Given the description of an element on the screen output the (x, y) to click on. 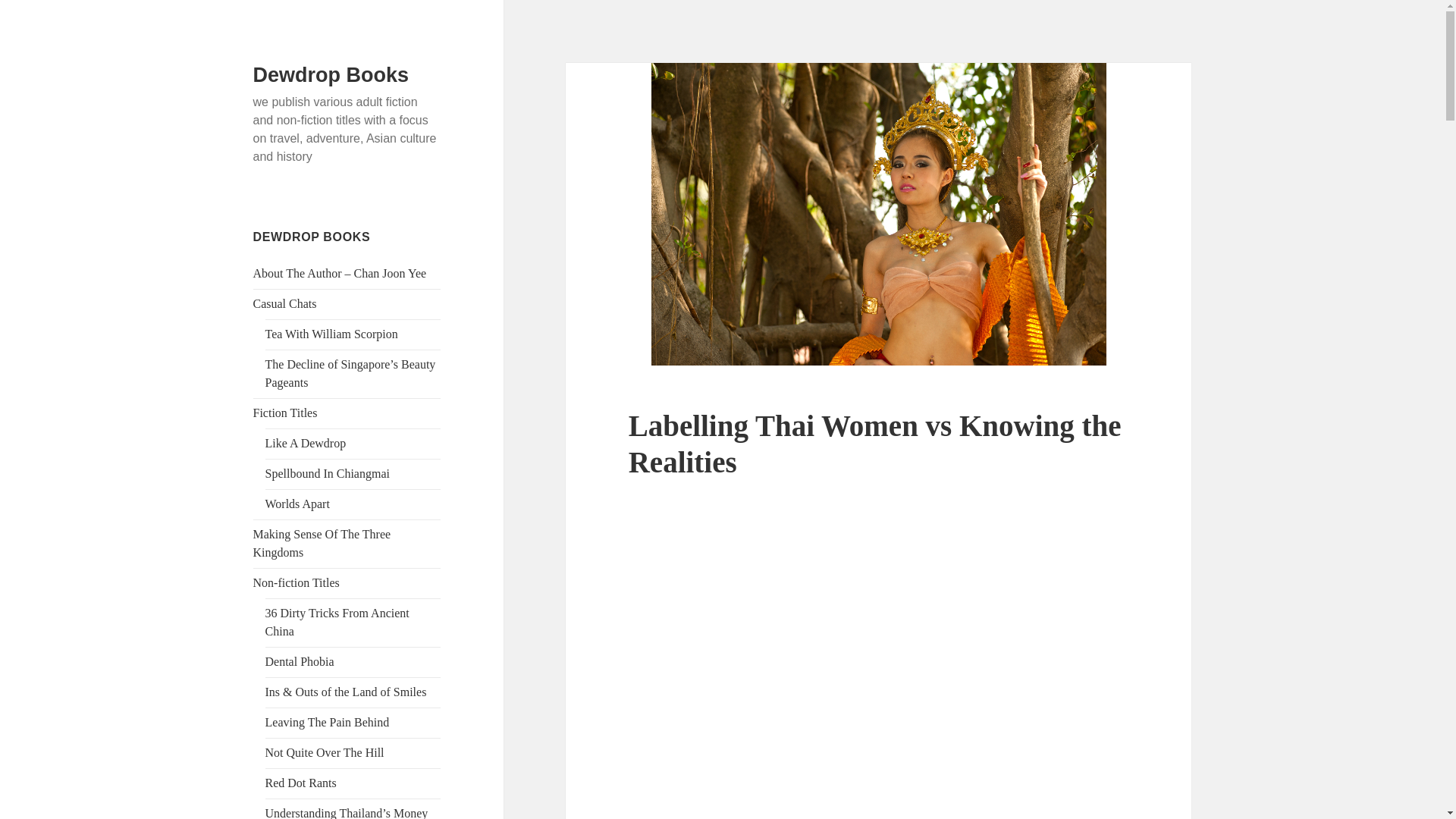
Not Quite Over The Hill (324, 752)
Casual Chats (285, 303)
Like A Dewdrop (305, 442)
Dewdrop Books (331, 74)
Fiction Titles (285, 412)
Making Sense Of The Three Kingdoms (322, 542)
Leaving The Pain Behind (327, 721)
Worlds Apart (297, 503)
Dental Phobia (299, 661)
36 Dirty Tricks From Ancient China (336, 622)
Spellbound In Chiangmai (327, 472)
Tea With William Scorpion (330, 333)
Red Dot Rants (300, 782)
Non-fiction Titles (296, 582)
